Given the description of an element on the screen output the (x, y) to click on. 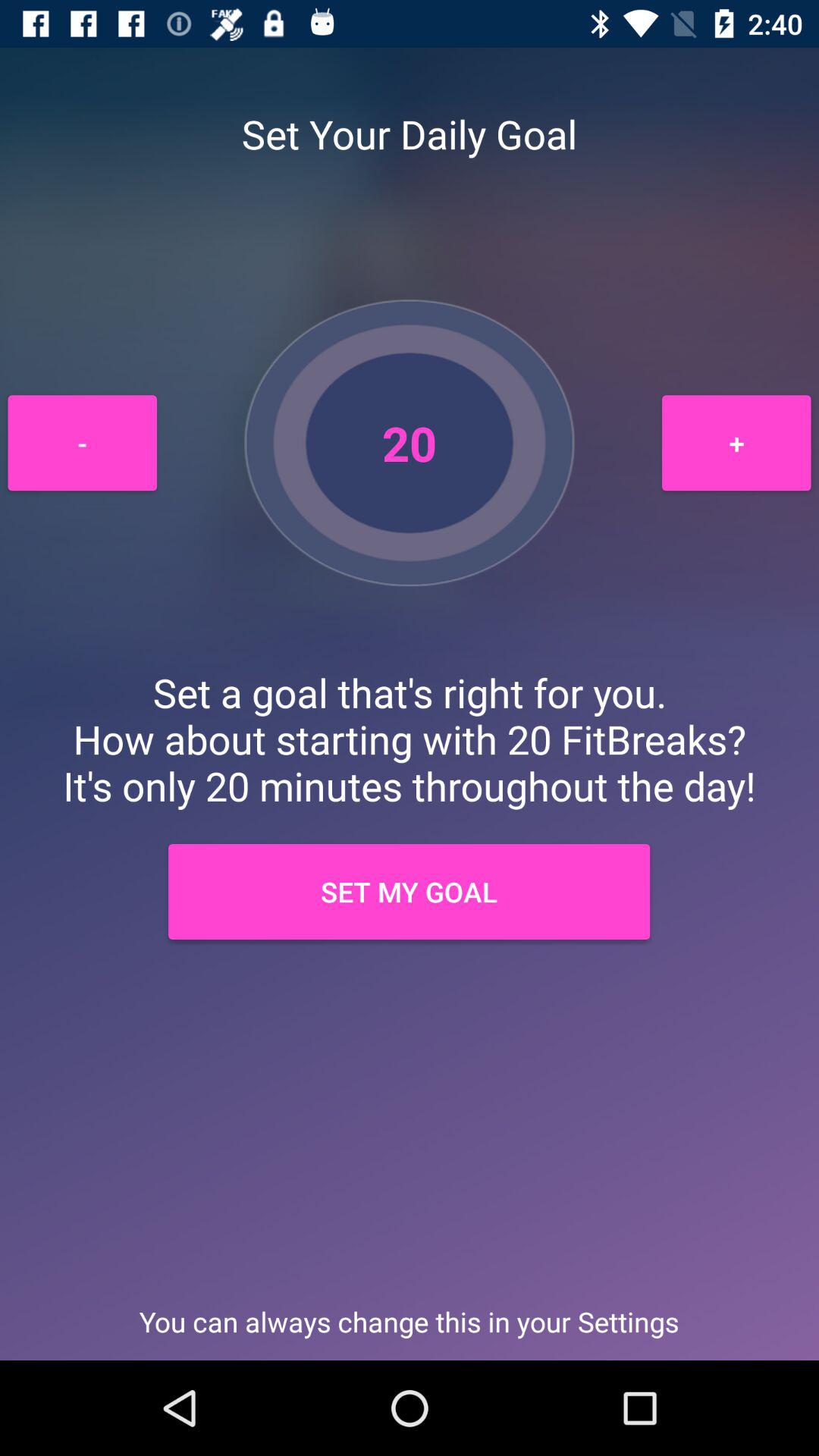
turn off item to the right of the 20 (736, 442)
